Given the description of an element on the screen output the (x, y) to click on. 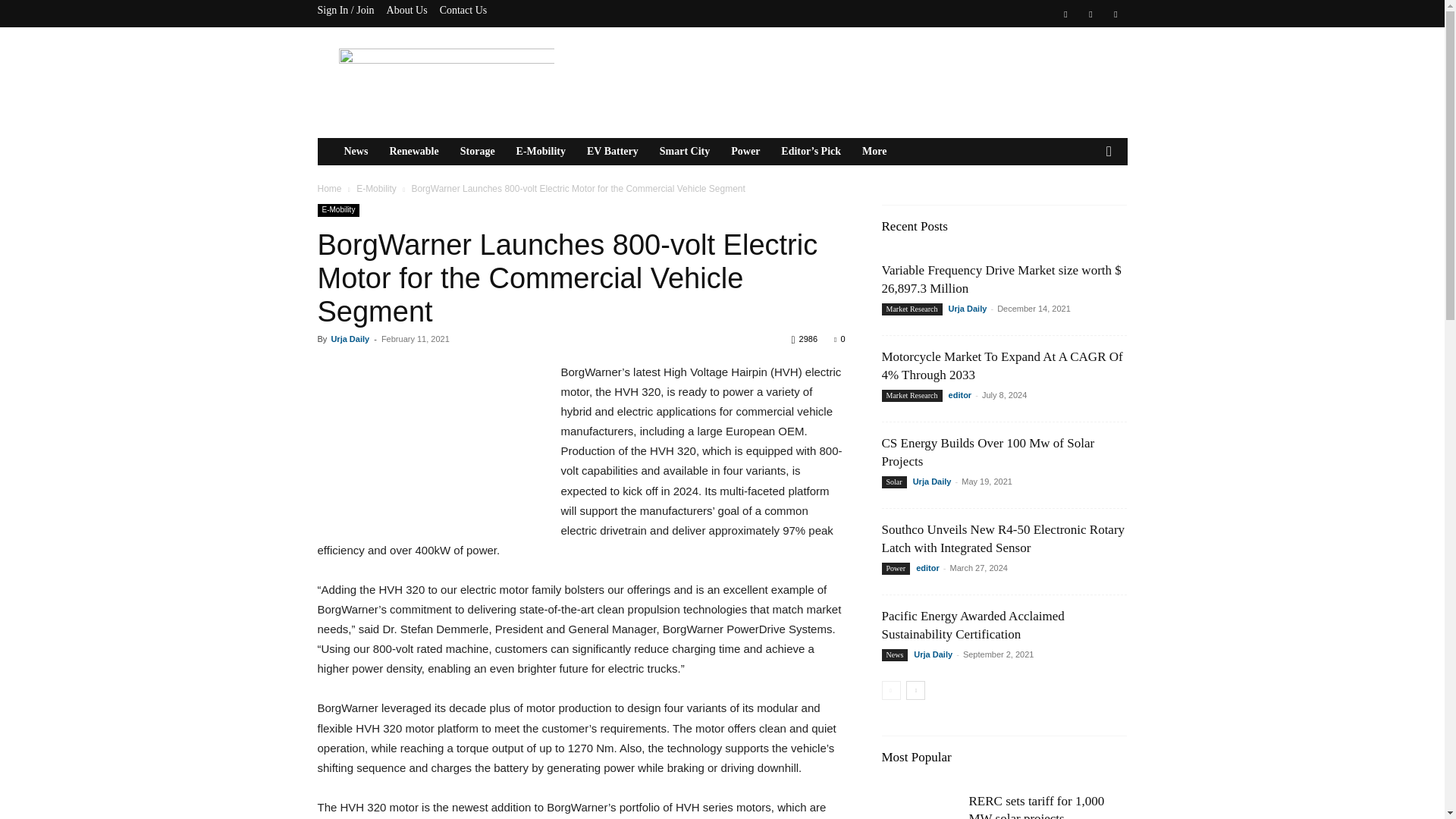
View all posts in E-Mobility (376, 188)
Contact Us (463, 9)
About Us (407, 9)
